Given the description of an element on the screen output the (x, y) to click on. 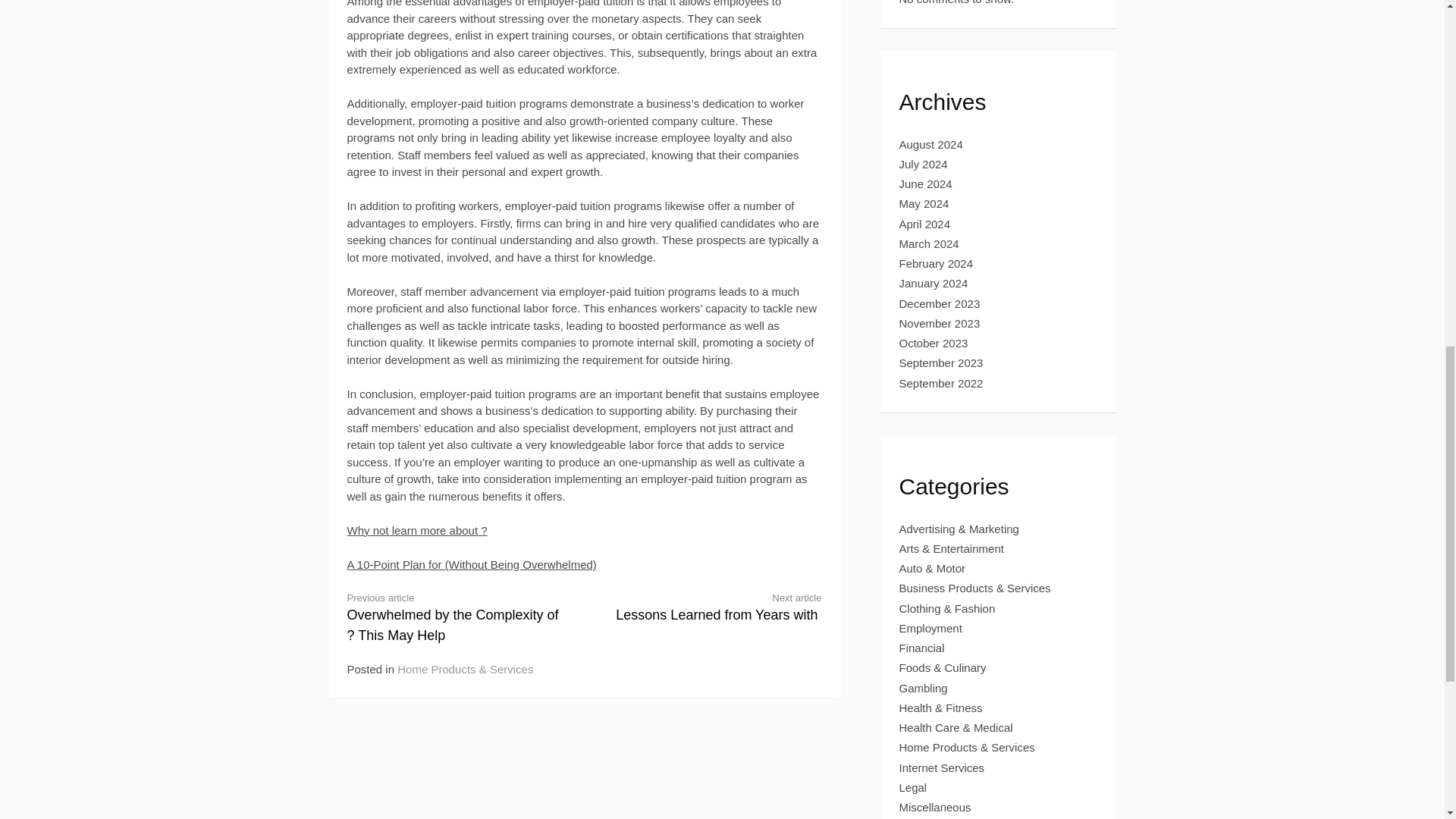
August 2024 (715, 606)
July 2024 (930, 144)
Why not learn more about ? (923, 164)
September 2022 (417, 530)
January 2024 (941, 382)
October 2023 (933, 282)
December 2023 (933, 342)
November 2023 (939, 303)
May 2024 (939, 323)
